Given the description of an element on the screen output the (x, y) to click on. 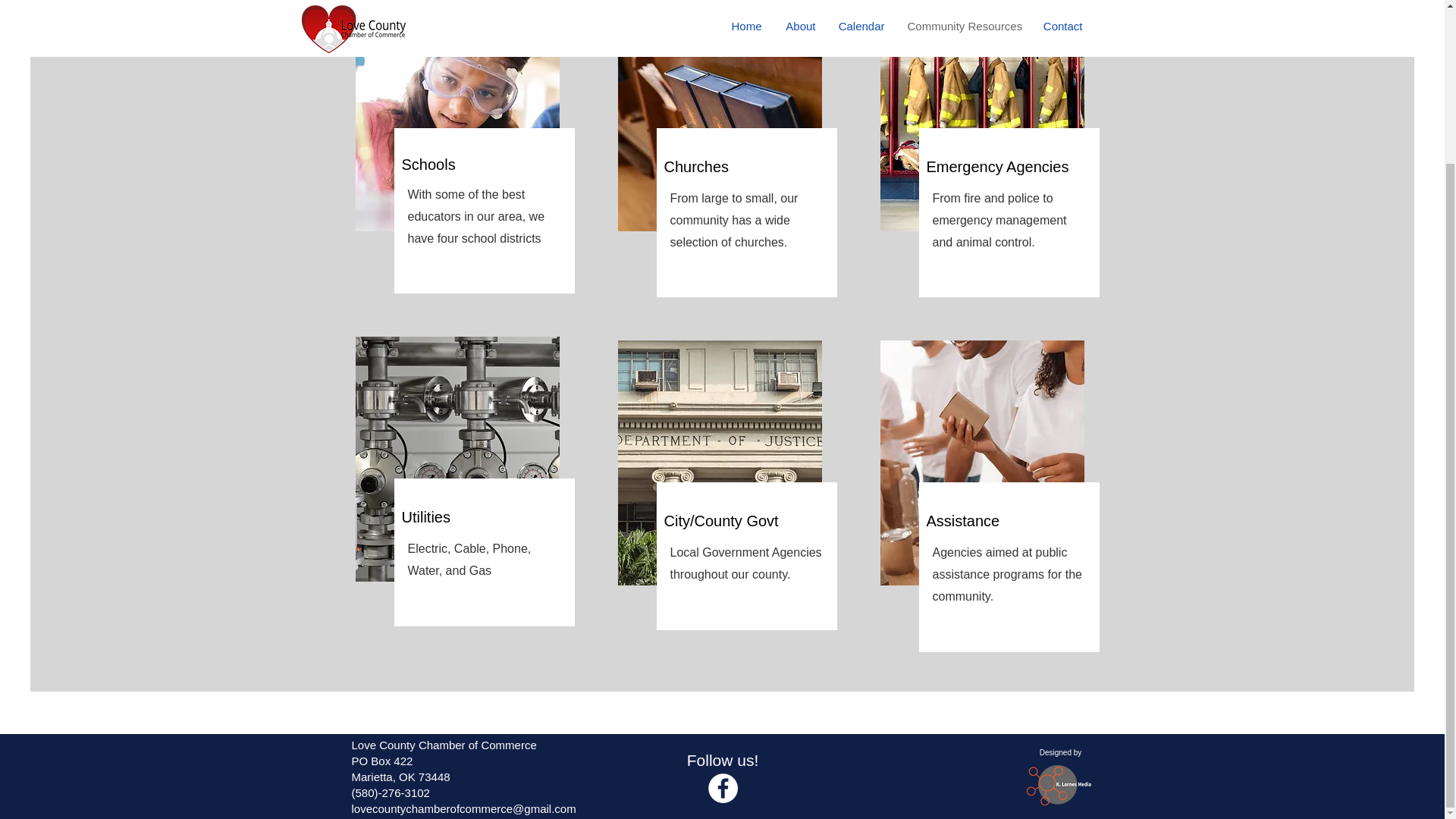
Utilities (425, 516)
Emergency Agencies (997, 166)
Assistance (963, 520)
Churches (696, 166)
Schools (428, 164)
